Given the description of an element on the screen output the (x, y) to click on. 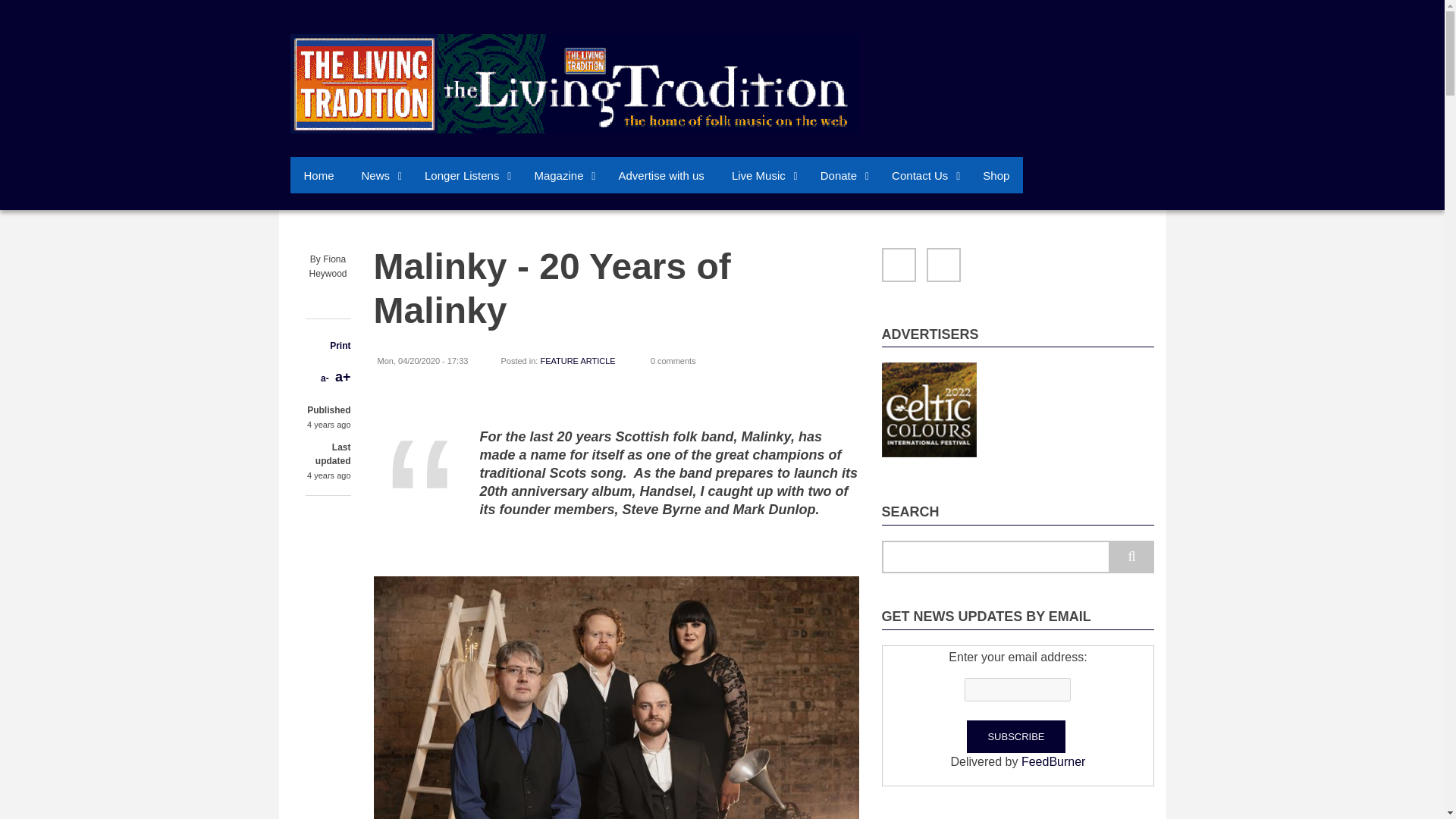
Home (574, 82)
Advertising Information (660, 175)
Magazine (561, 175)
Longer Listens (464, 175)
News (379, 175)
Donate (841, 175)
Live Music (761, 175)
Video and Audio recordings for you to enjoy (464, 175)
Live Music (761, 175)
